Given the description of an element on the screen output the (x, y) to click on. 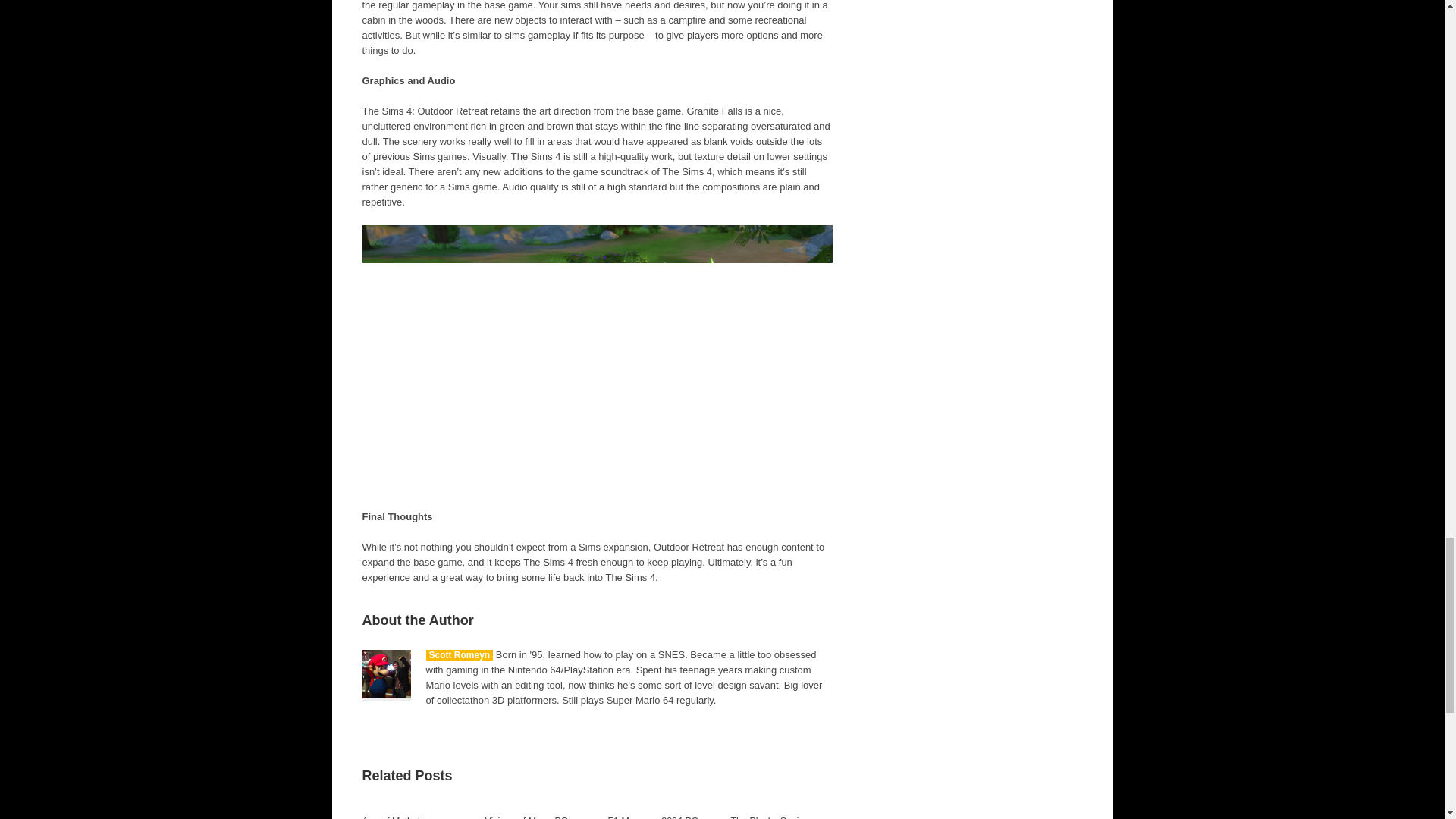
Age of Mythology: Retold PC Review (400, 817)
The Plucky Squire Preview (769, 817)
F1 Manager 2024 PC Review (653, 817)
Posts by Scott Romeyn (459, 655)
Visions of Mana PC Review (525, 817)
